Given the description of an element on the screen output the (x, y) to click on. 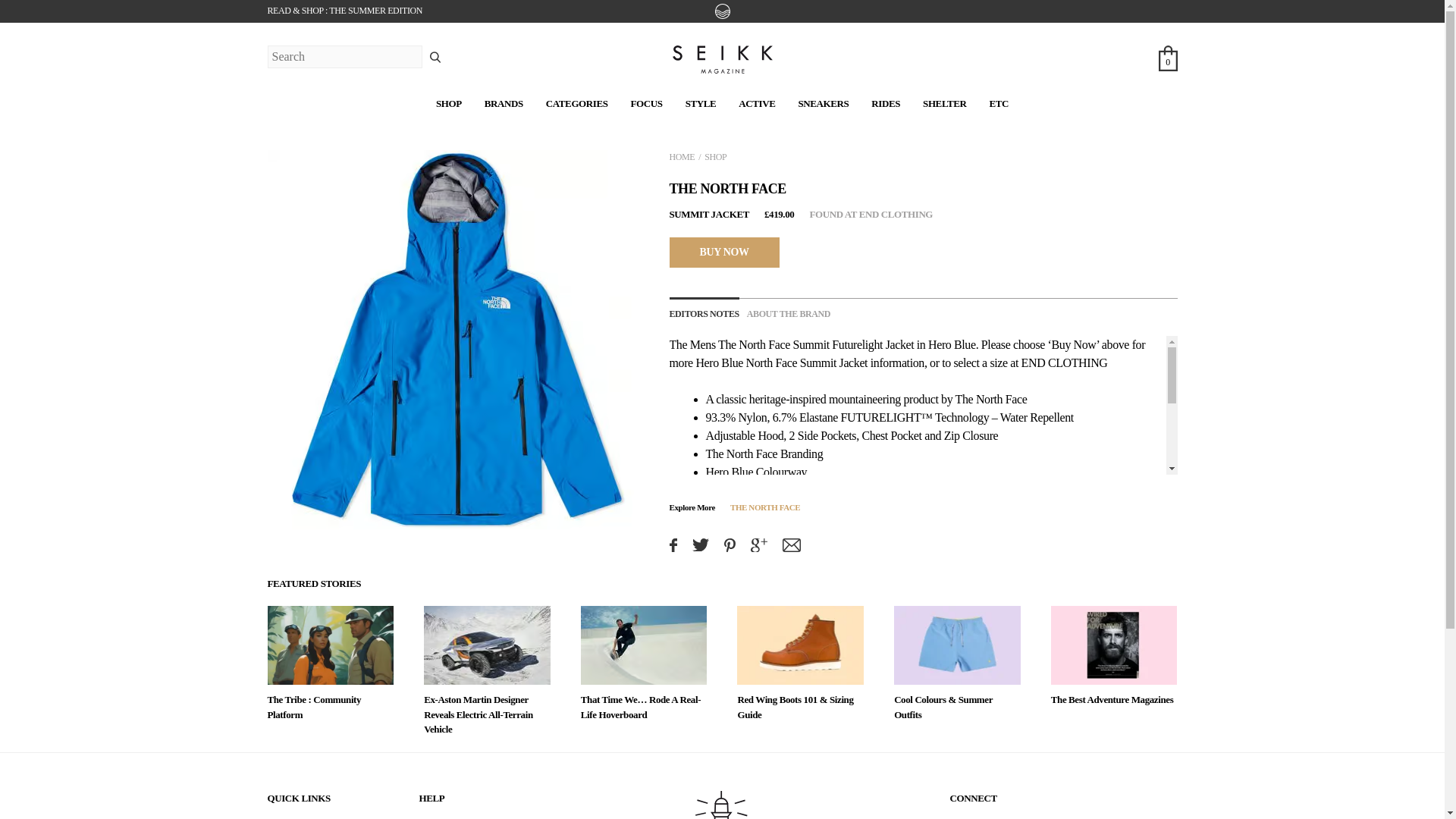
SNEAKERS (822, 102)
ETC (998, 102)
BUY NOW (723, 251)
HOME (681, 156)
ACTIVE (756, 102)
SHELTER (944, 102)
BRANDS (503, 102)
SHOP (448, 102)
RIDES (884, 102)
CATEGORIES (577, 102)
